Given the description of an element on the screen output the (x, y) to click on. 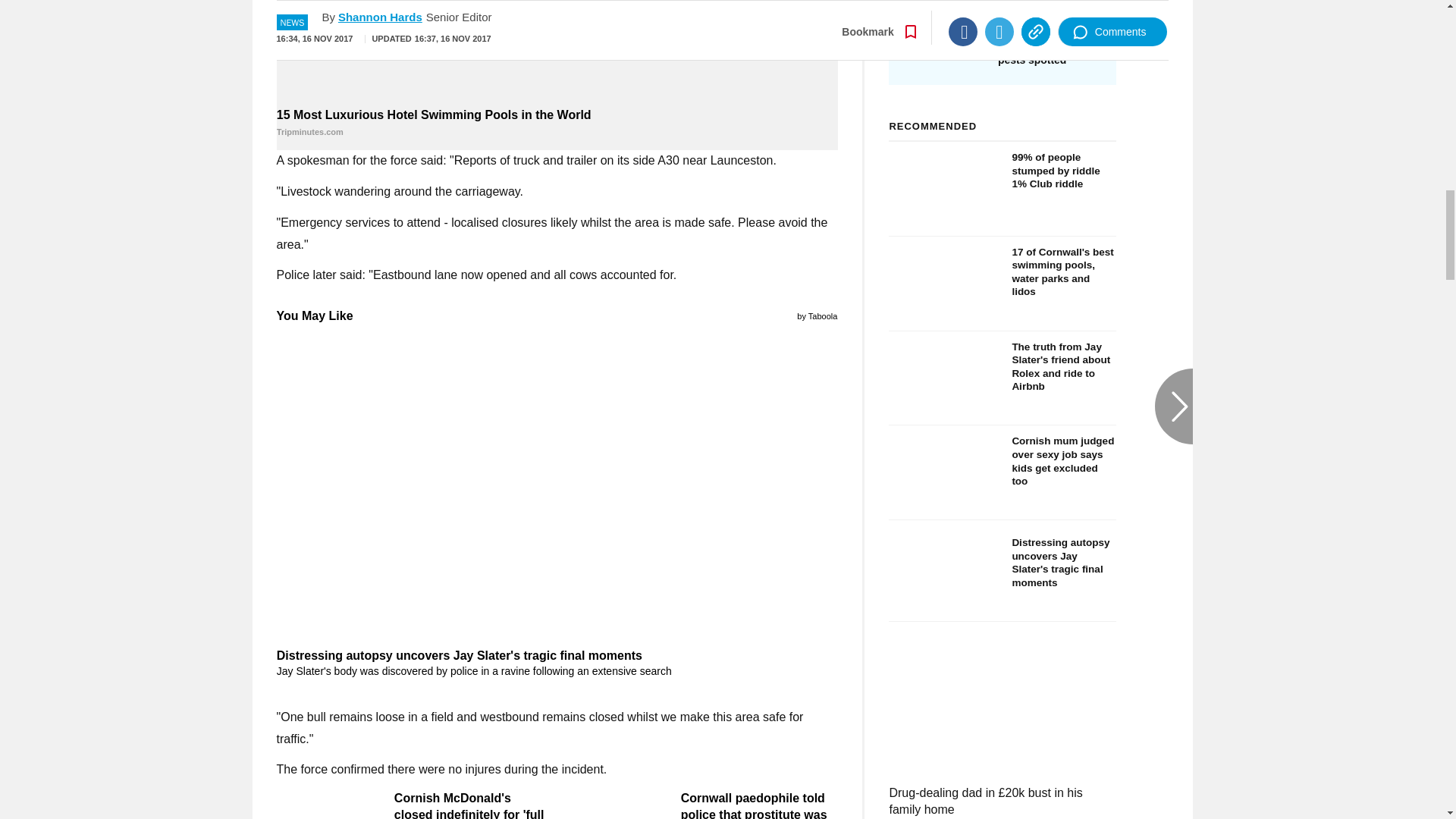
15 Most Luxurious Hotel Swimming Pools in the World (557, 123)
